Given the description of an element on the screen output the (x, y) to click on. 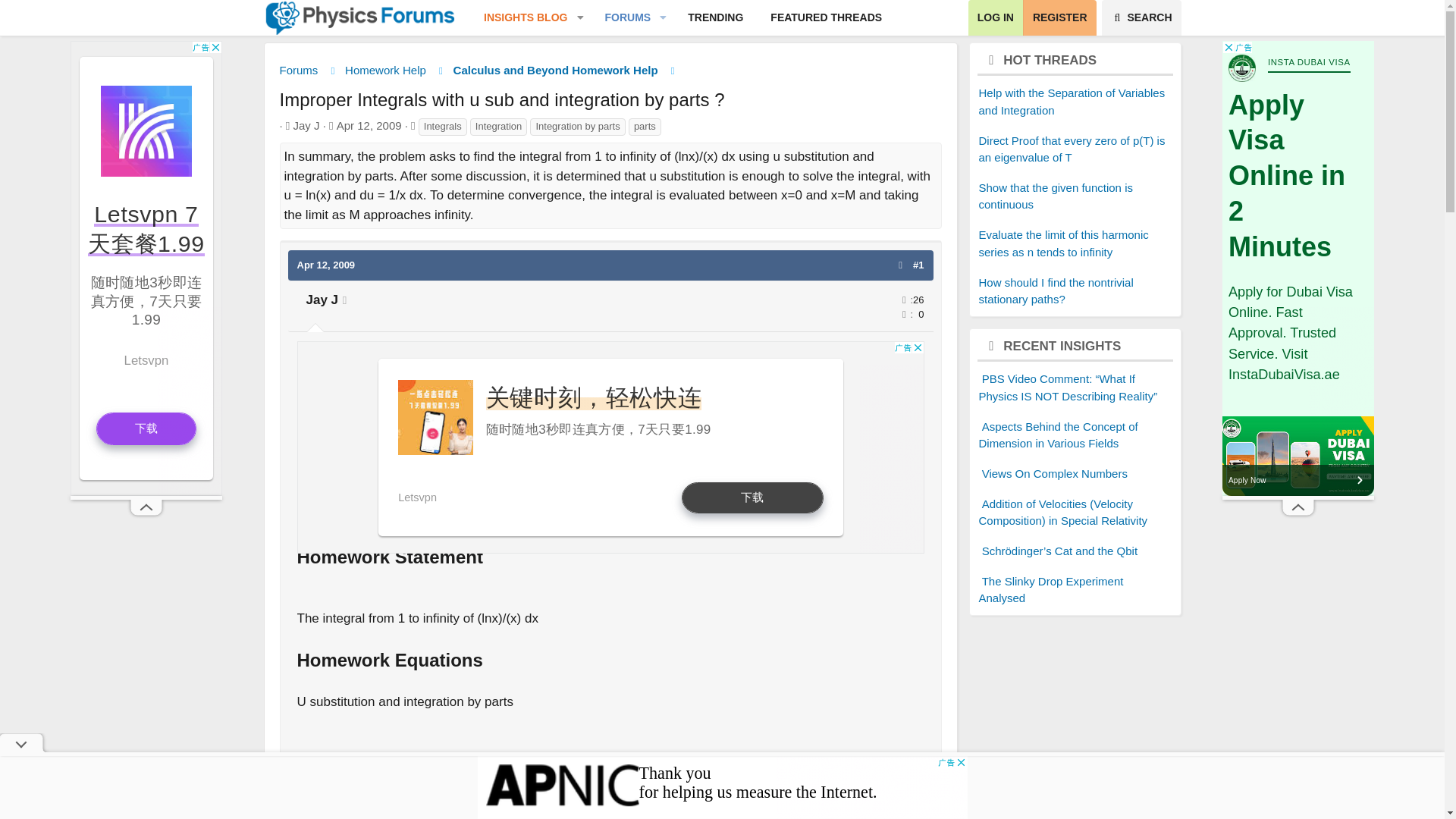
TRENDING (715, 18)
REGISTER (1059, 18)
Advertisement (610, 447)
Apr 12, 2009 at 6:58 PM (326, 265)
Search (1140, 18)
Apr 12, 2009 at 6:58 PM (368, 124)
SEARCH (1140, 18)
INSIGHTS BLOG (519, 18)
FORUMS (682, 34)
LOG IN (682, 18)
FEATURED THREADS (621, 18)
